Given the description of an element on the screen output the (x, y) to click on. 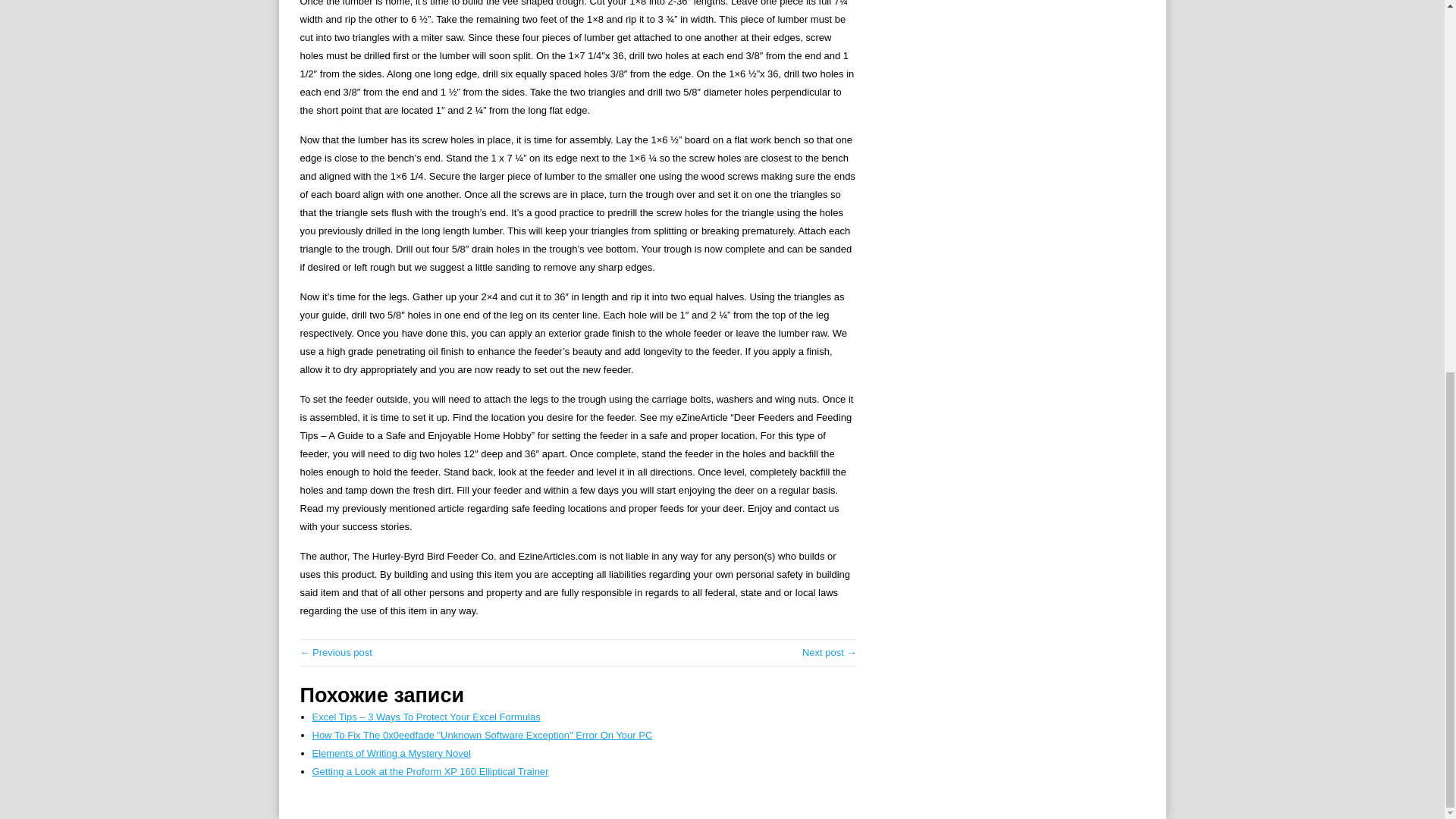
Three Options for Non-Profit Board Governance (335, 652)
Elements of Writing a Mystery Novel (391, 753)
Getting a Look at the Proform XP 160 Elliptical Trainer (430, 771)
Timber Rustling Makes Us All Victims (829, 652)
